Given the description of an element on the screen output the (x, y) to click on. 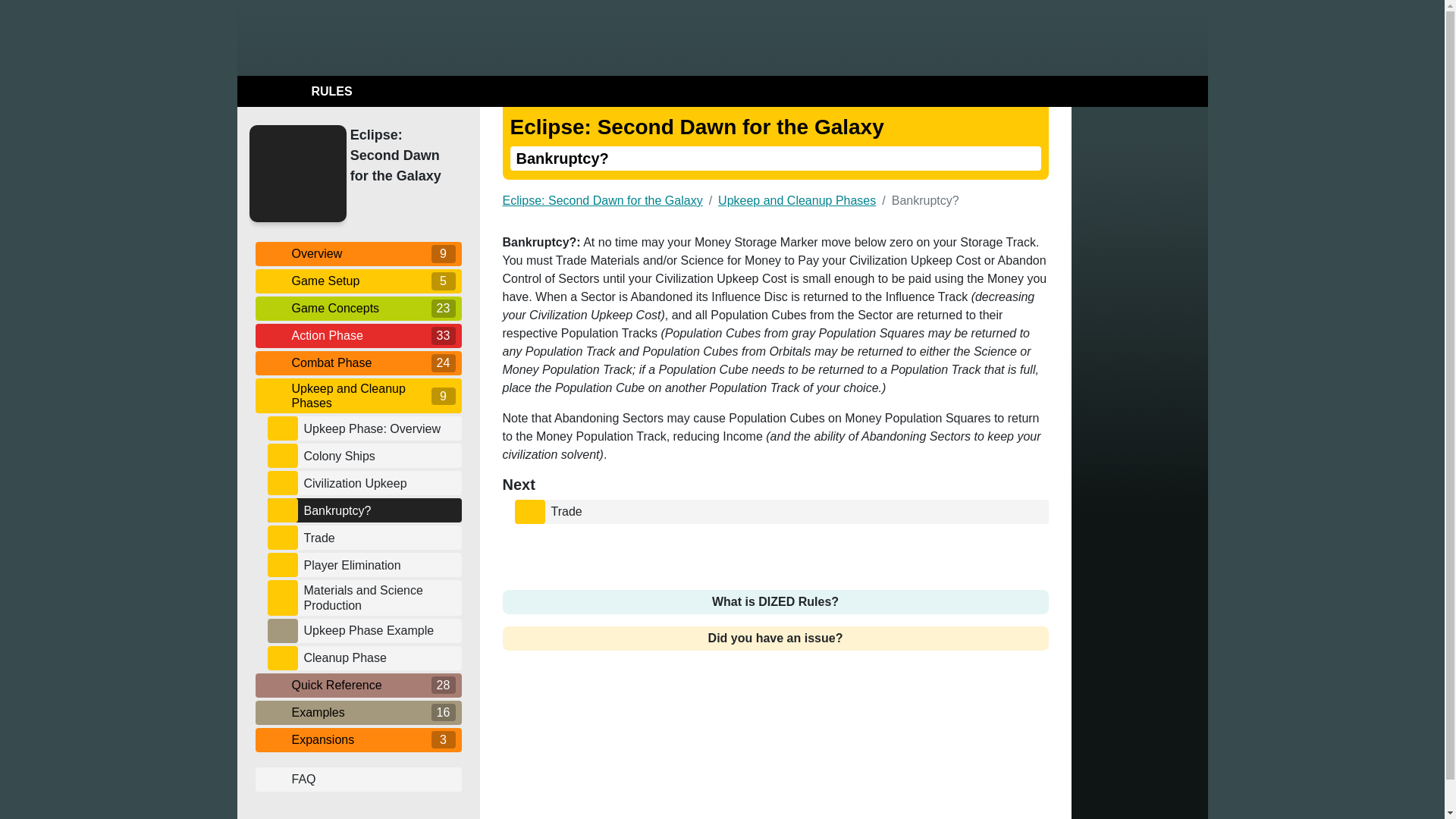
Game Concepts (357, 308)
Game Setup (357, 281)
  RULES (297, 90)
Overview (357, 253)
Eclipse: Second Dawn for the Galaxy (401, 155)
